Given the description of an element on the screen output the (x, y) to click on. 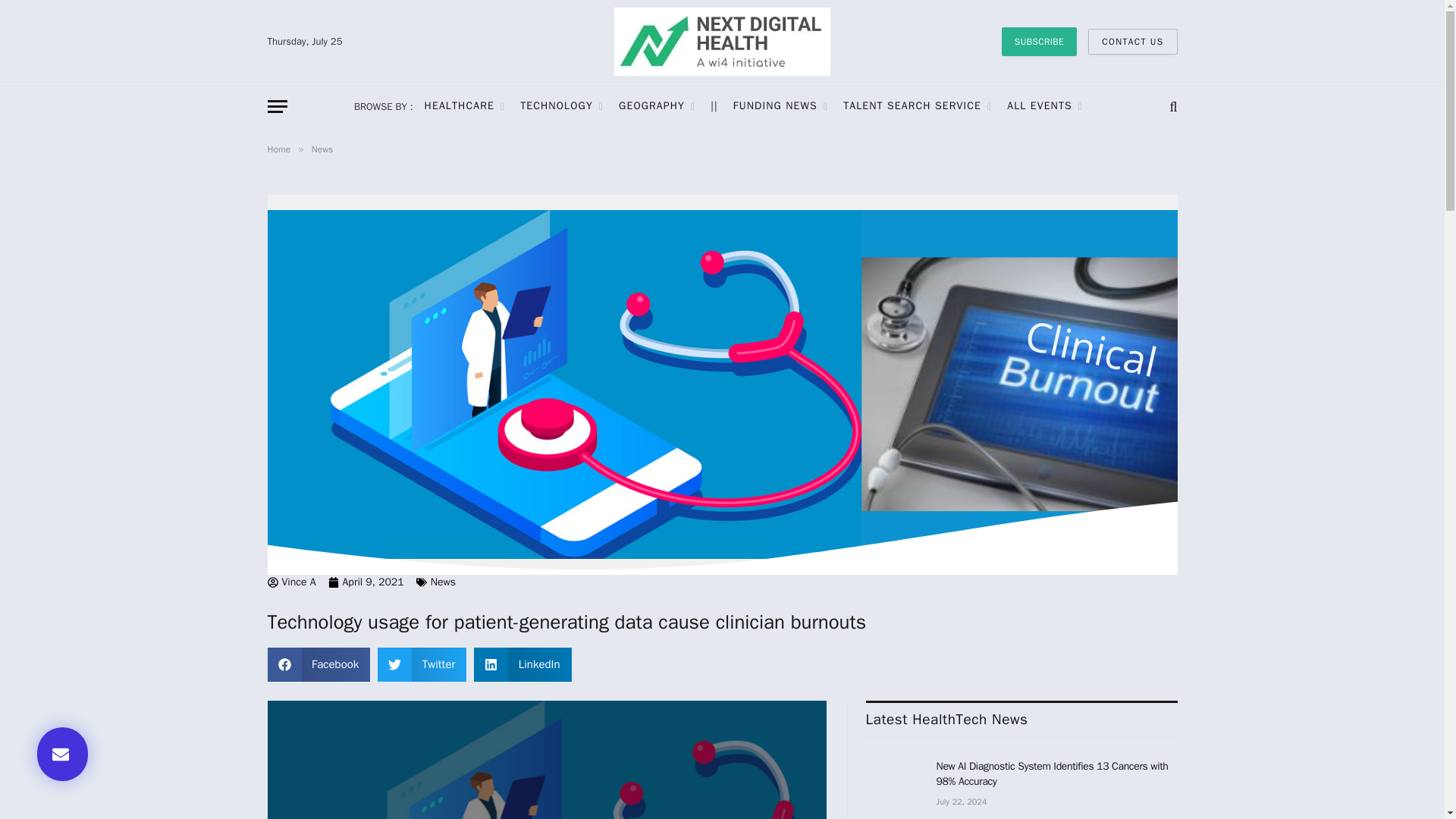
HEALTHCARE (464, 106)
SUBSCRIBE (1039, 41)
Next Digital Health (722, 41)
CONTACT US (1131, 41)
